Given the description of an element on the screen output the (x, y) to click on. 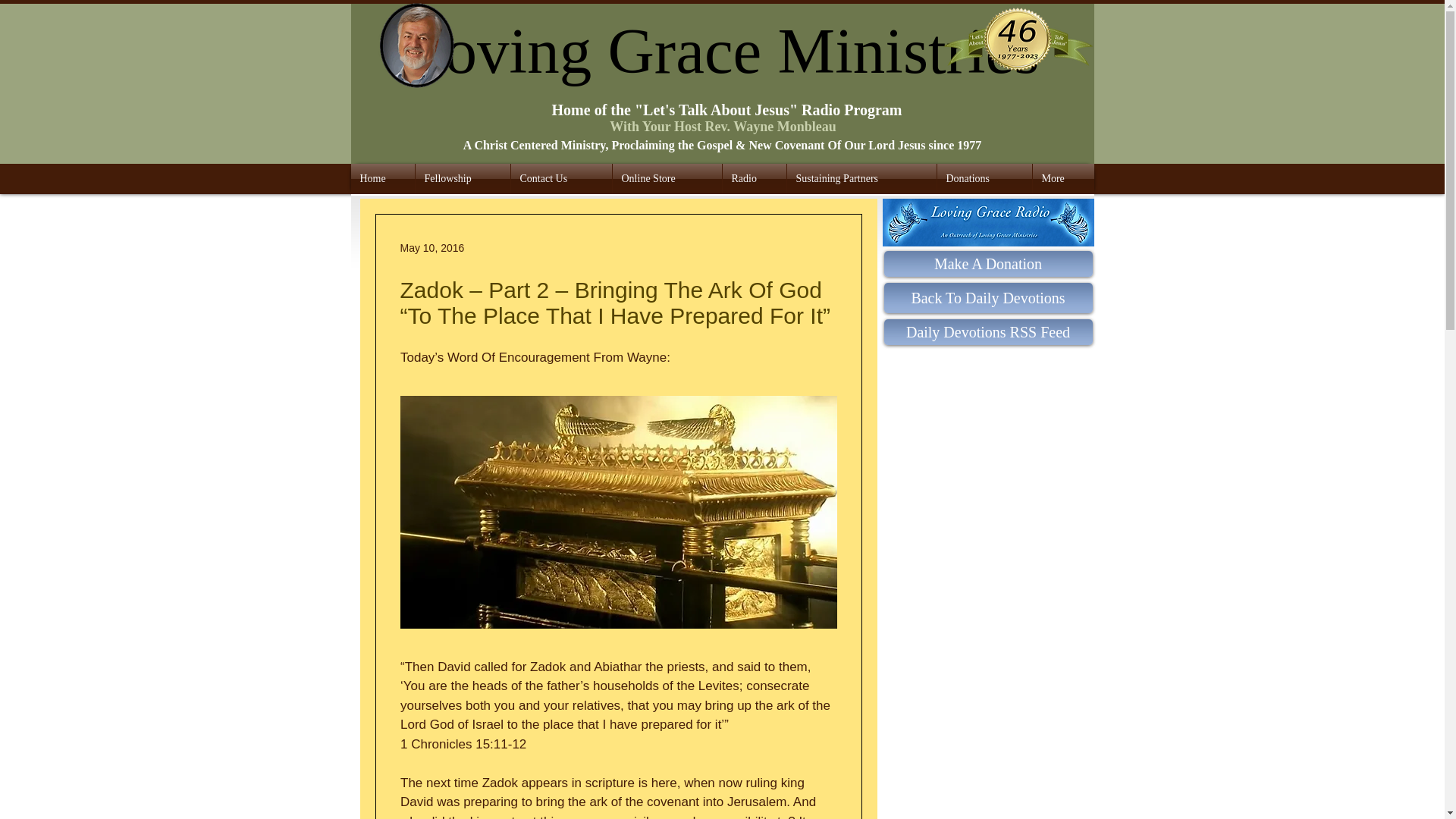
logo41.png (1017, 43)
May 10, 2016 (432, 246)
Wayne Monbleau (418, 45)
Contact Us (561, 178)
Radio (754, 178)
Home (381, 178)
Online Store (667, 178)
Fellowship (462, 178)
Sustaining Partners (861, 178)
Donations (984, 178)
